Given the description of an element on the screen output the (x, y) to click on. 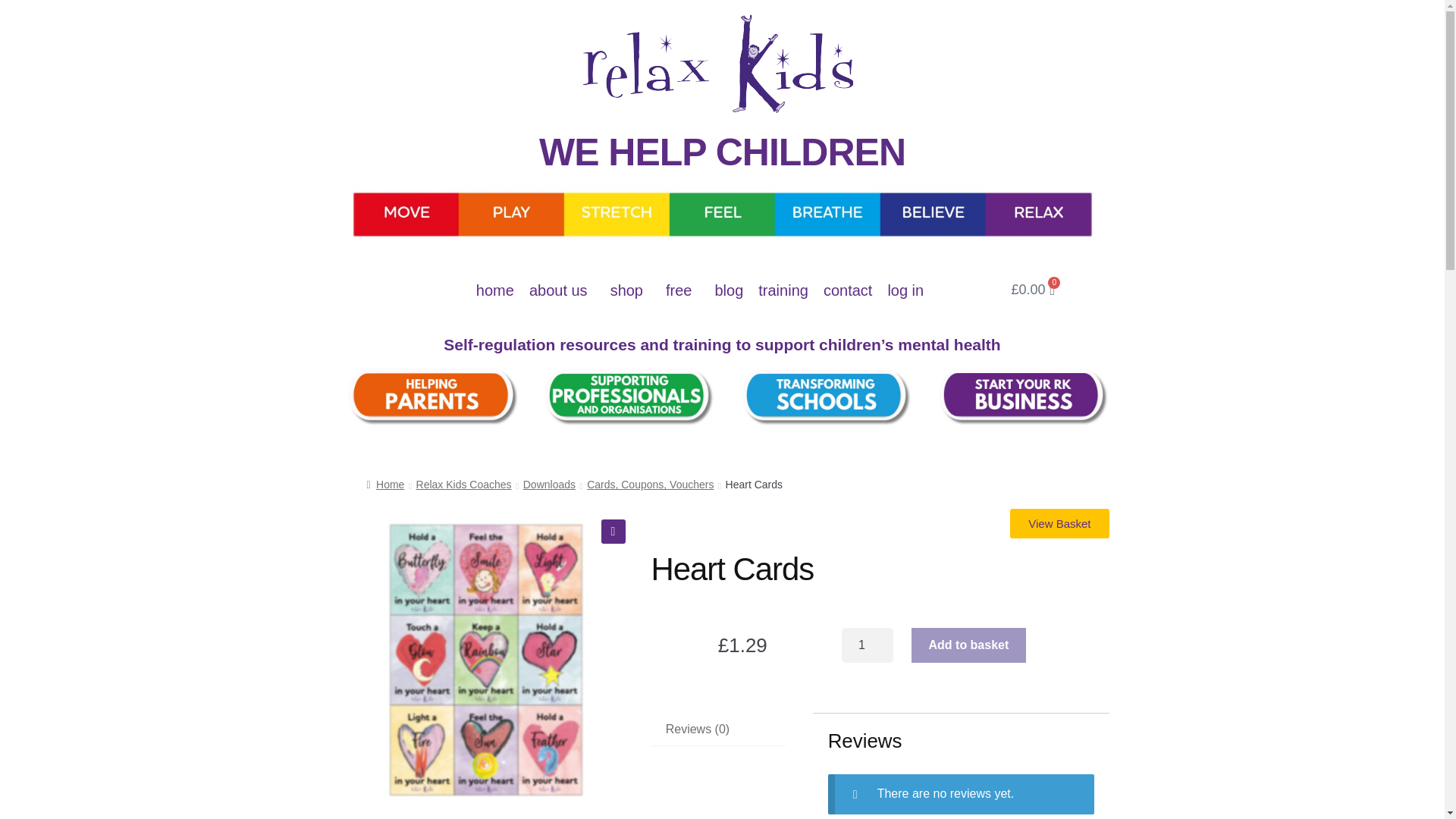
1 (867, 645)
blog (728, 289)
about us (561, 289)
log in (905, 289)
free (682, 289)
training (783, 289)
home (494, 289)
contact (847, 289)
shop (630, 289)
heart cards (484, 658)
